Given the description of an element on the screen output the (x, y) to click on. 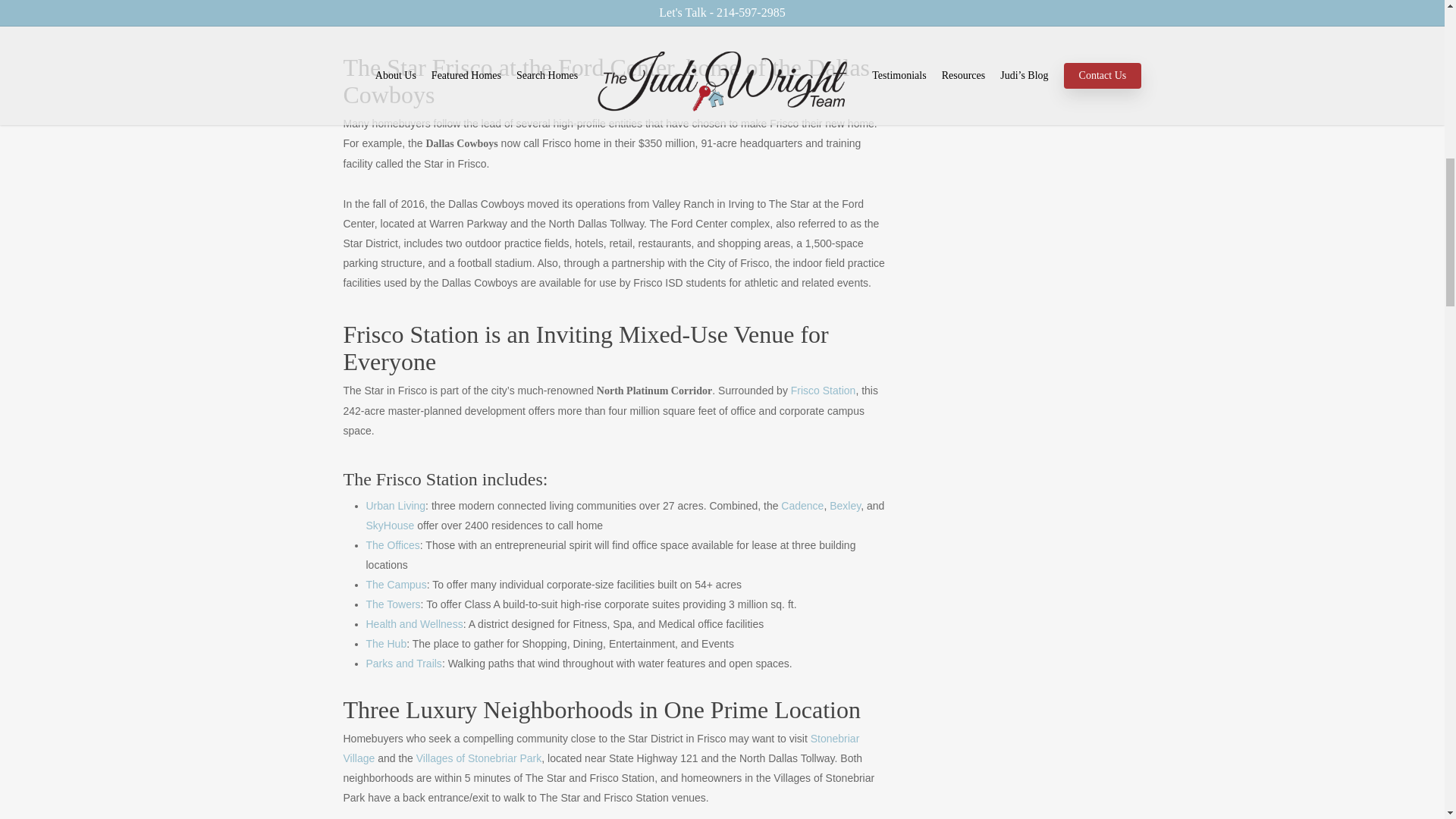
Health and Wellness (414, 623)
Bexley (844, 505)
The Campus (395, 584)
Frisco Station (823, 390)
SkyHouse (389, 525)
Urban Living (395, 505)
Cadence (802, 505)
The Towers (392, 604)
The Offices (392, 544)
